Given the description of an element on the screen output the (x, y) to click on. 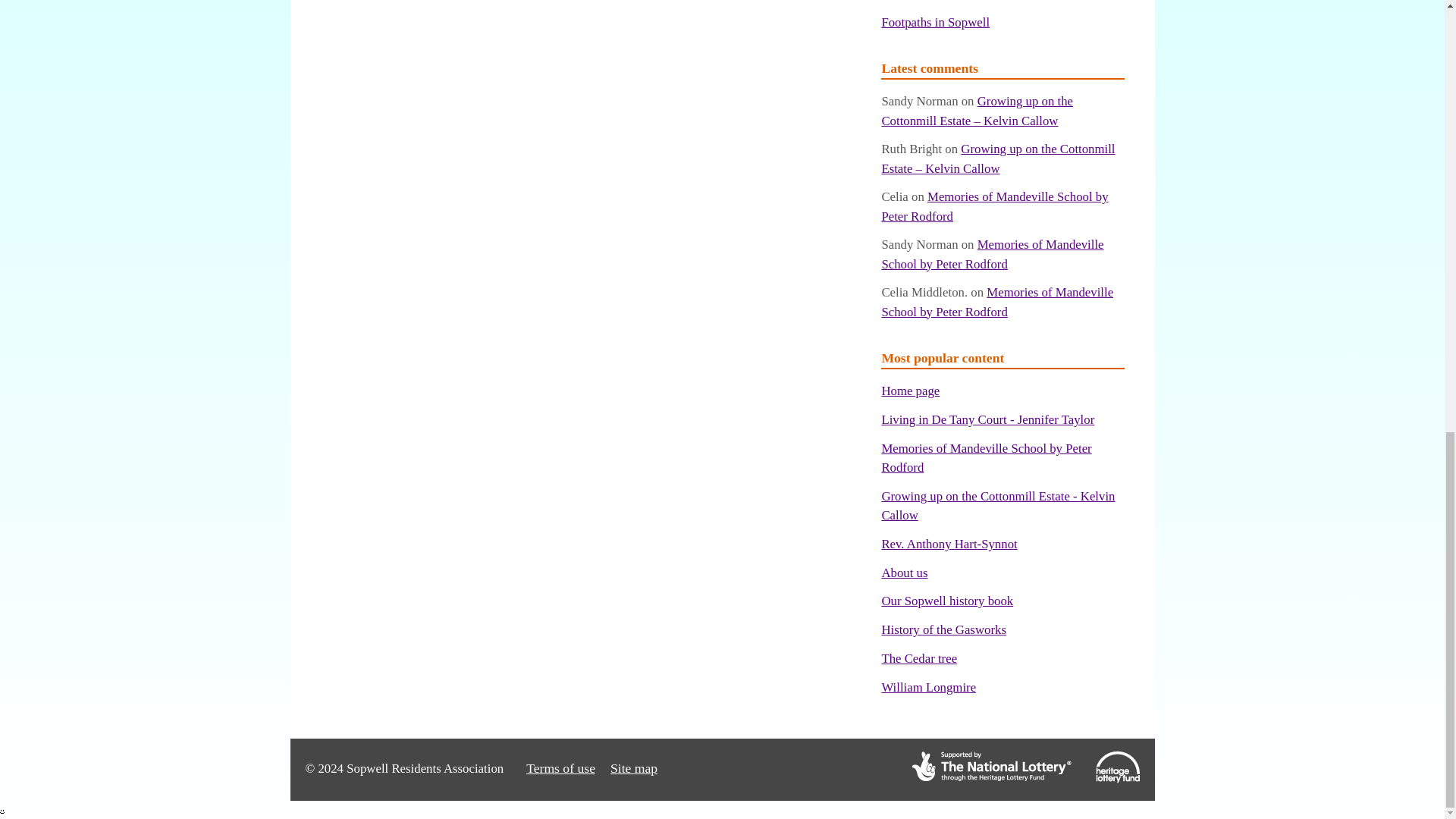
Living in De Tany Court - Jennifer Taylor (987, 419)
Home page (909, 391)
History of the Gasworks (943, 629)
Growing up on the Cottonmill Estate - Kelvin Callow (997, 505)
About us (903, 572)
Woad Mead (911, 0)
Memories of Mandeville School by Peter Rodford (996, 301)
Rev. Anthony Hart-Synnot (948, 544)
Memories of Mandeville School by Peter Rodford (985, 458)
Memories of Mandeville School by Peter Rodford (994, 205)
Footpaths in Sopwell (935, 22)
Memories of Mandeville School by Peter Rodford (991, 254)
Our Sopwell history book (946, 600)
